Given the description of an element on the screen output the (x, y) to click on. 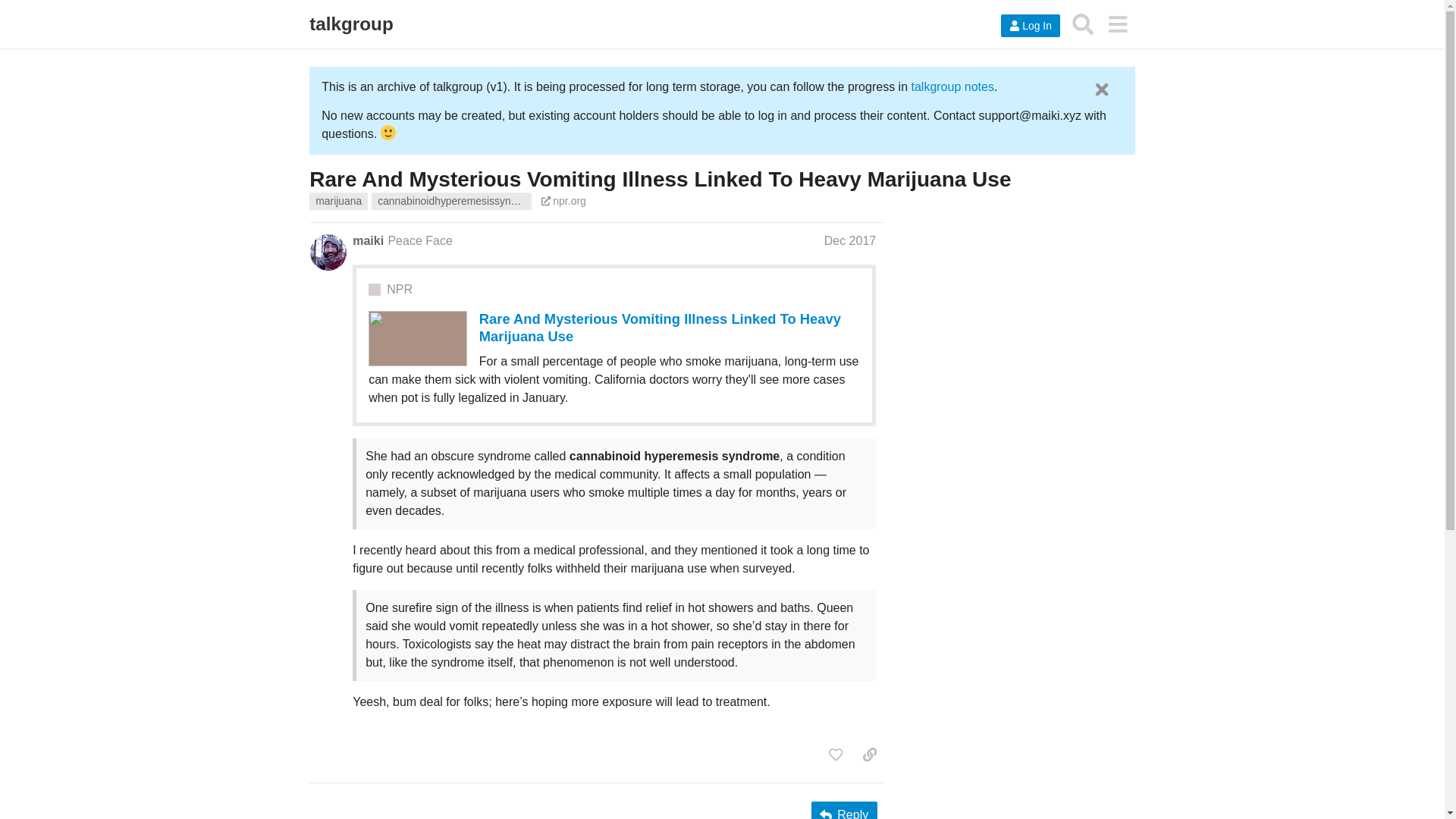
Log In (1030, 25)
talkgroup notes (951, 86)
Reply (843, 810)
menu (1117, 23)
like this post (835, 754)
cannabinoidhyperemesissyndrome (451, 200)
talkgroup (350, 23)
maiki (368, 240)
marijuana (338, 200)
Search (1082, 23)
Dec 2017 (850, 240)
Post date (850, 240)
NPR (399, 289)
